Given the description of an element on the screen output the (x, y) to click on. 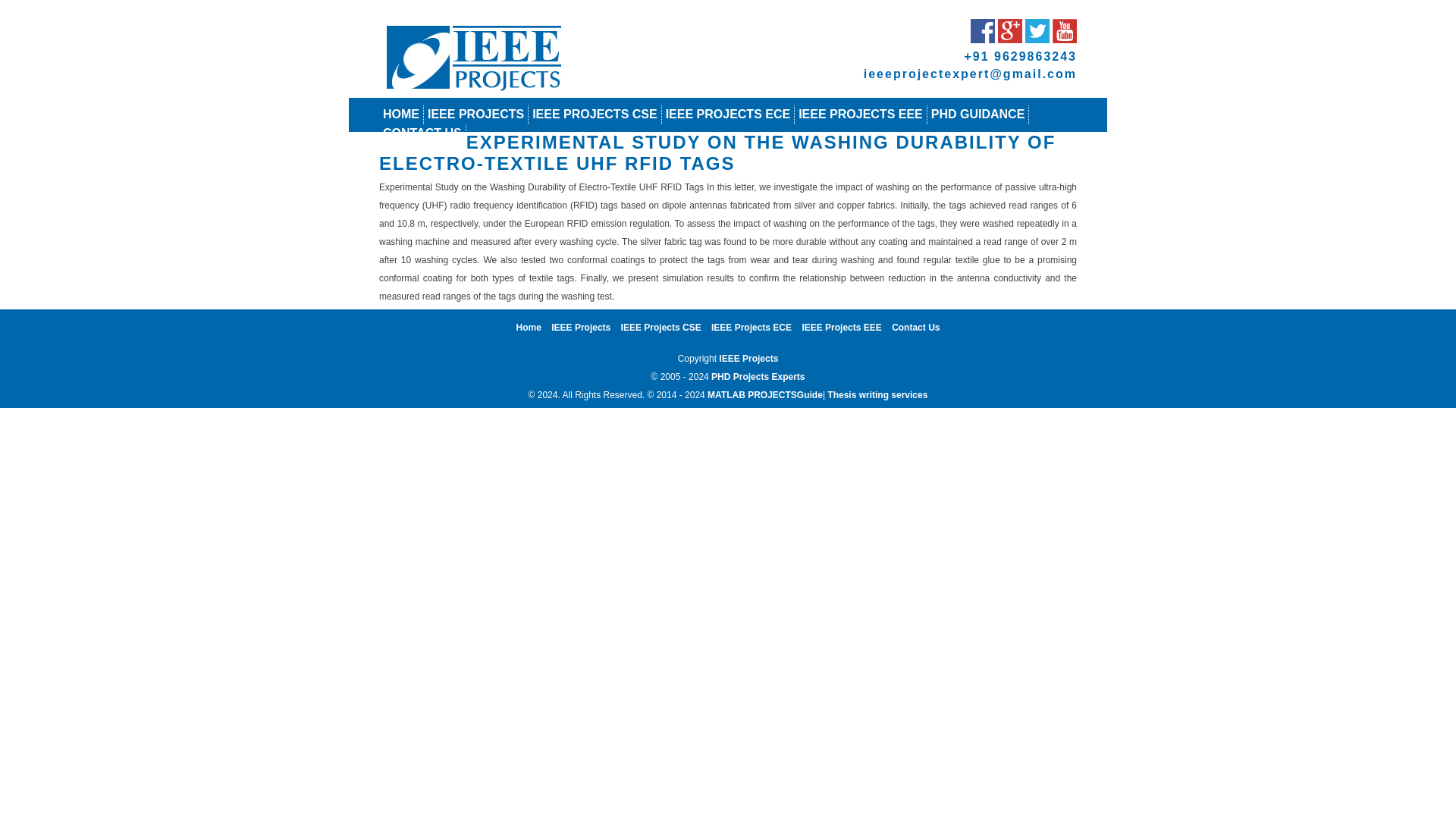
IEEE PROJECTS (476, 113)
IEEE Projects CSE (661, 327)
PHD GUIDANCE (978, 113)
HOME (400, 113)
IEEE PROJECTS EEE (860, 113)
CONTACT US (421, 132)
IEEE PROJECTS ECE (727, 113)
IEEE Projects ECE (751, 327)
IEEE Projects (580, 327)
IEEE PROJECTS CSE (595, 113)
Home (528, 327)
